Given the description of an element on the screen output the (x, y) to click on. 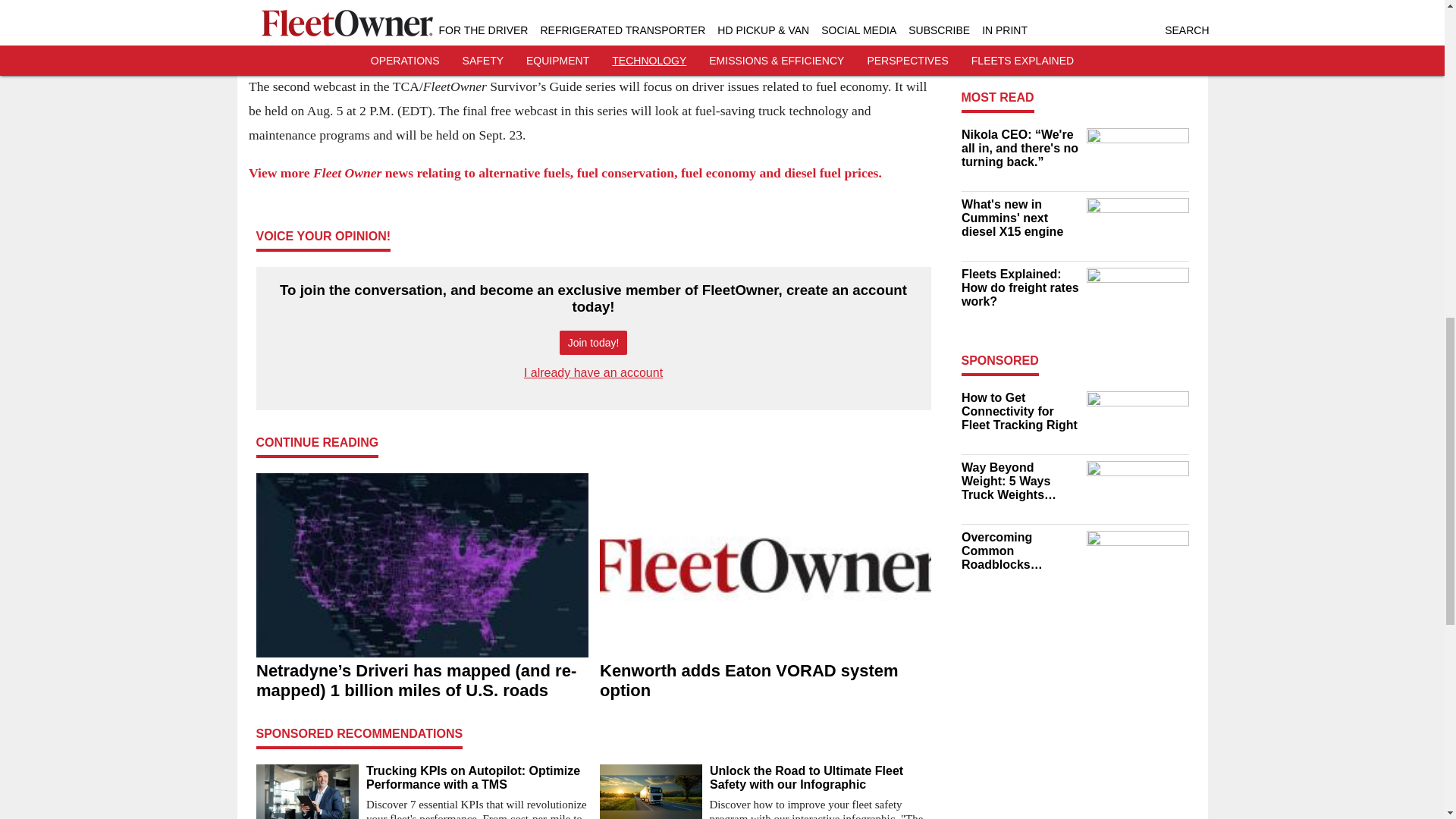
Trucking KPIs on Autopilot: Optimize Performance with a TMS (476, 777)
Kenworth adds Eaton VORAD system option (764, 681)
Join today! (593, 342)
I already have an account (593, 372)
